Given the description of an element on the screen output the (x, y) to click on. 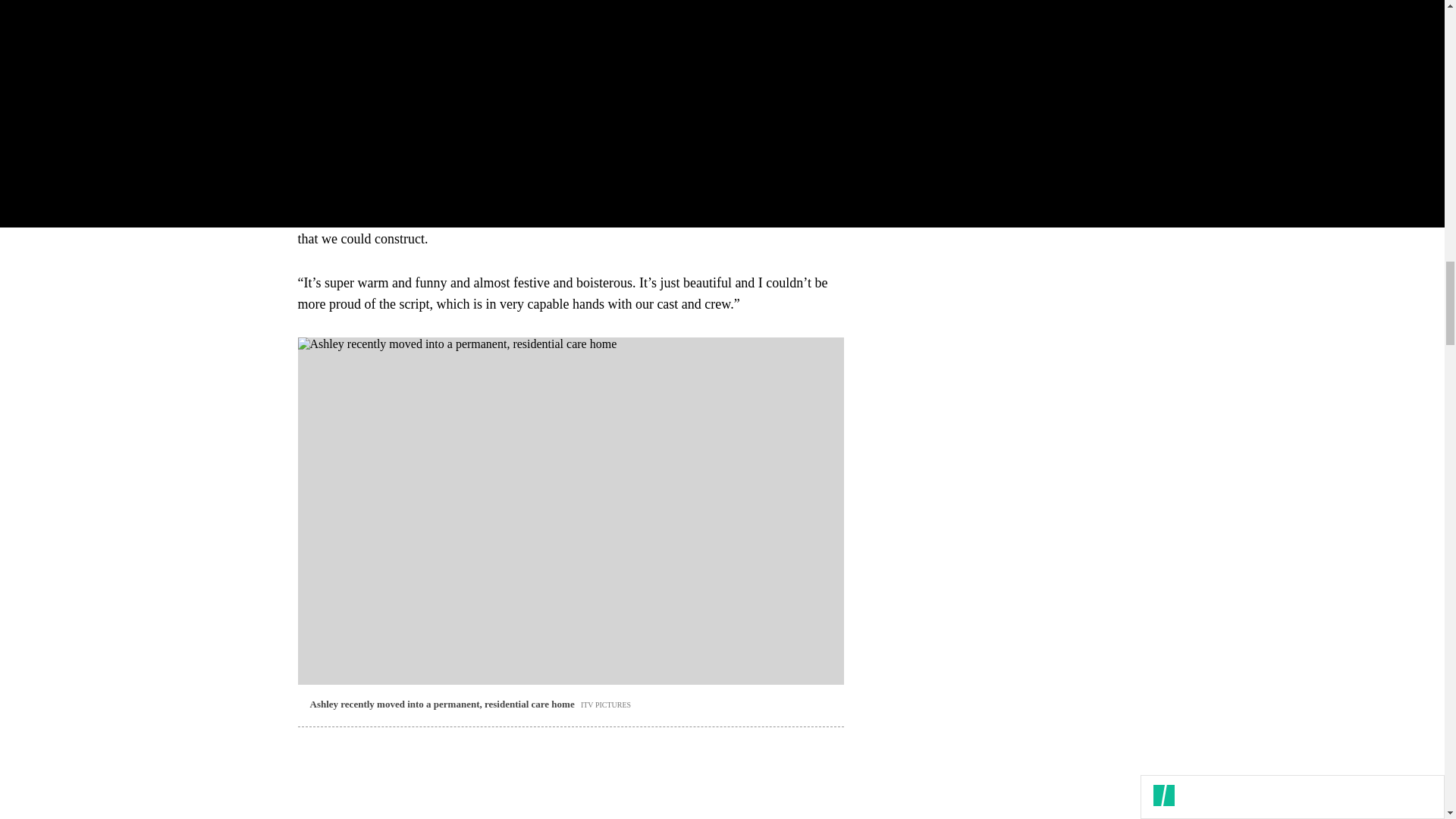
SIGN UP (1098, 97)
